Given the description of an element on the screen output the (x, y) to click on. 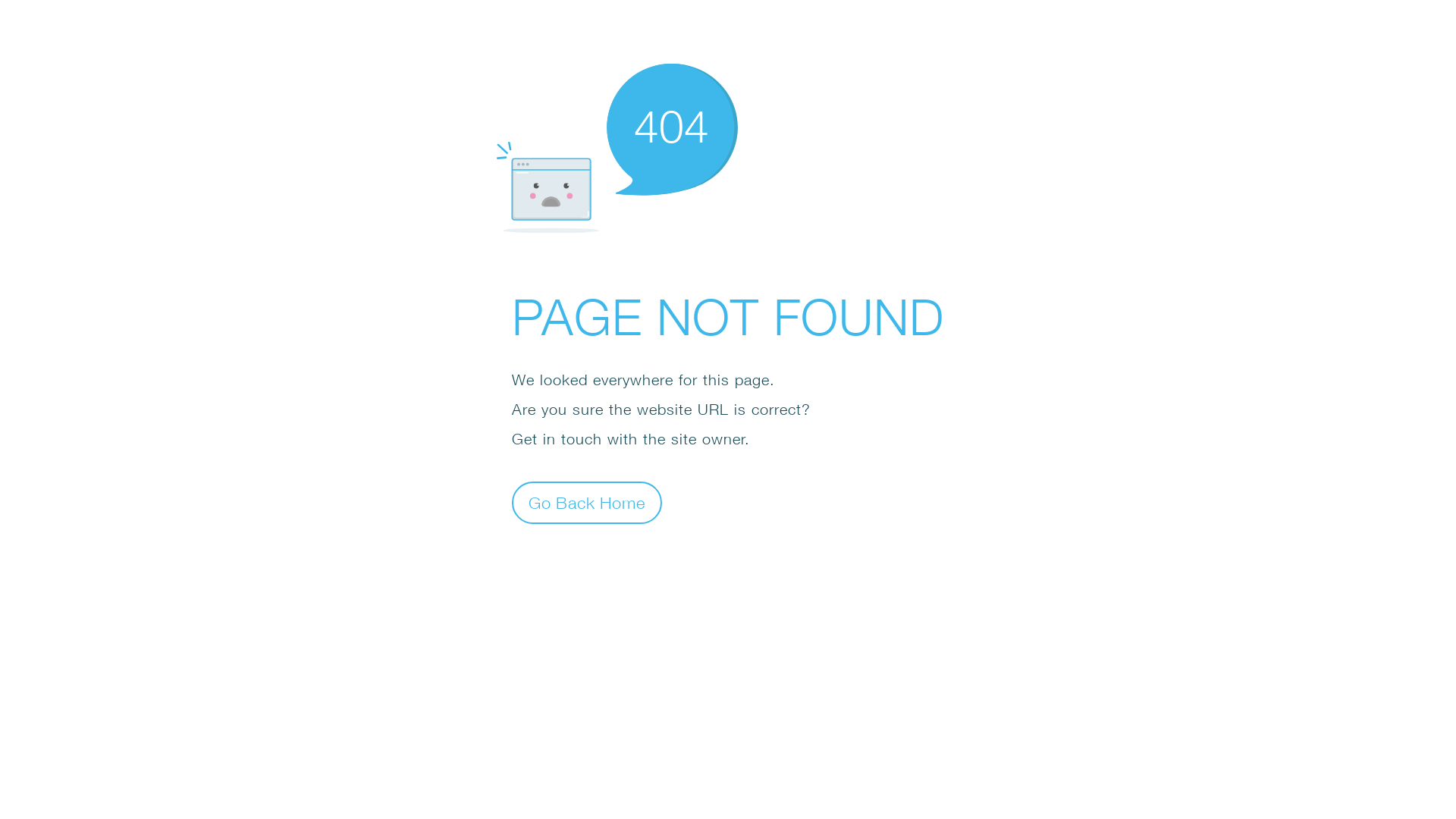
Go Back Home Element type: text (586, 502)
